Given the description of an element on the screen output the (x, y) to click on. 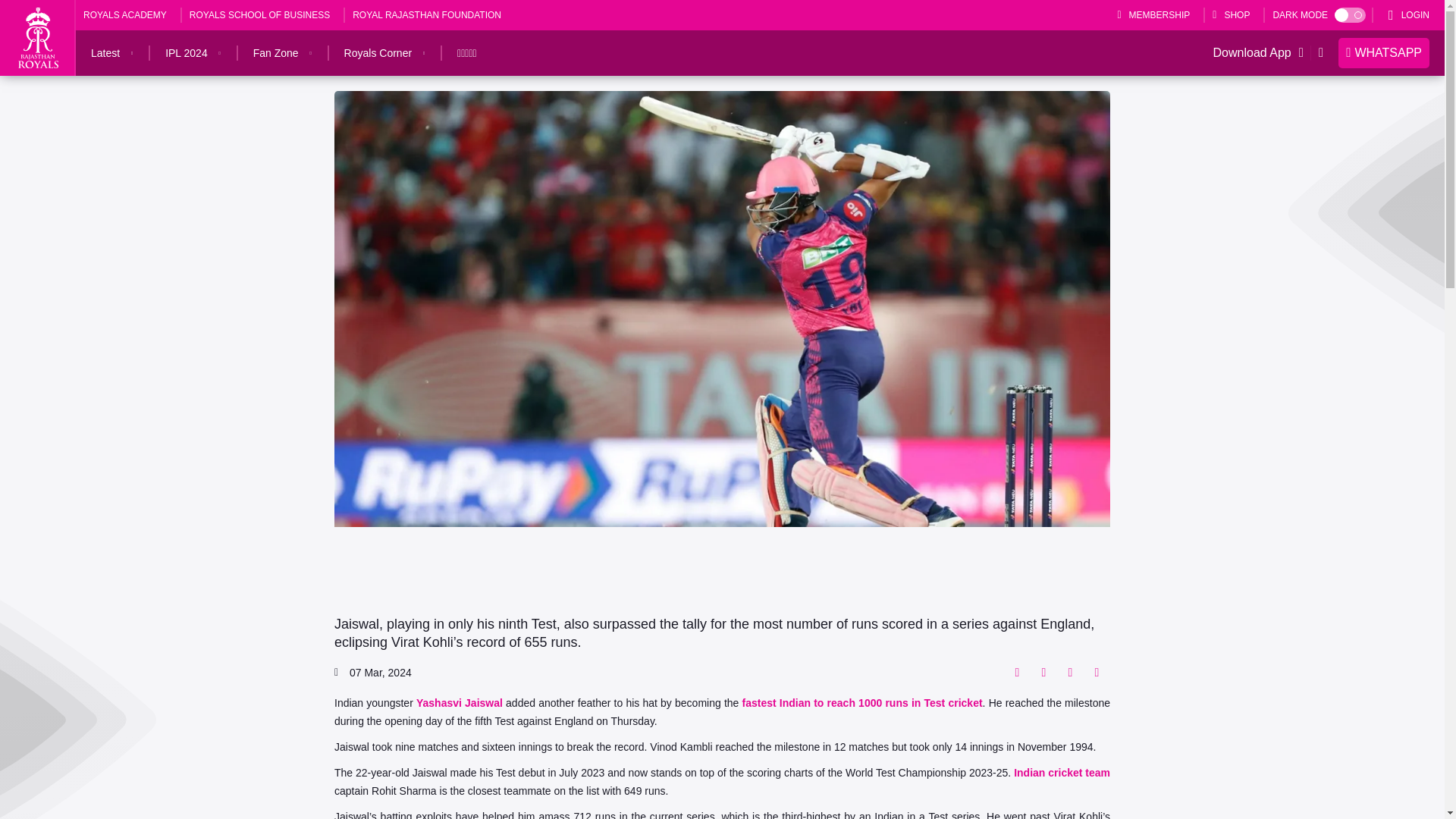
Share on WhatsApp (1069, 671)
Share on Facebook (1016, 671)
Membership (1152, 14)
SHOP (1230, 14)
ROYALS ACADEMY (124, 14)
Download App (1248, 53)
Shop (1230, 14)
WhatsApp (1383, 52)
Rajasthan Royals logo (37, 37)
Royals Academy (124, 14)
MEMBERSHIP (1152, 14)
ROYALS SCHOOL OF BUSINESS (259, 14)
Fan Zone (275, 53)
Share on Twitter (1043, 671)
Royal Rajasthan Foundation (426, 14)
